Given the description of an element on the screen output the (x, y) to click on. 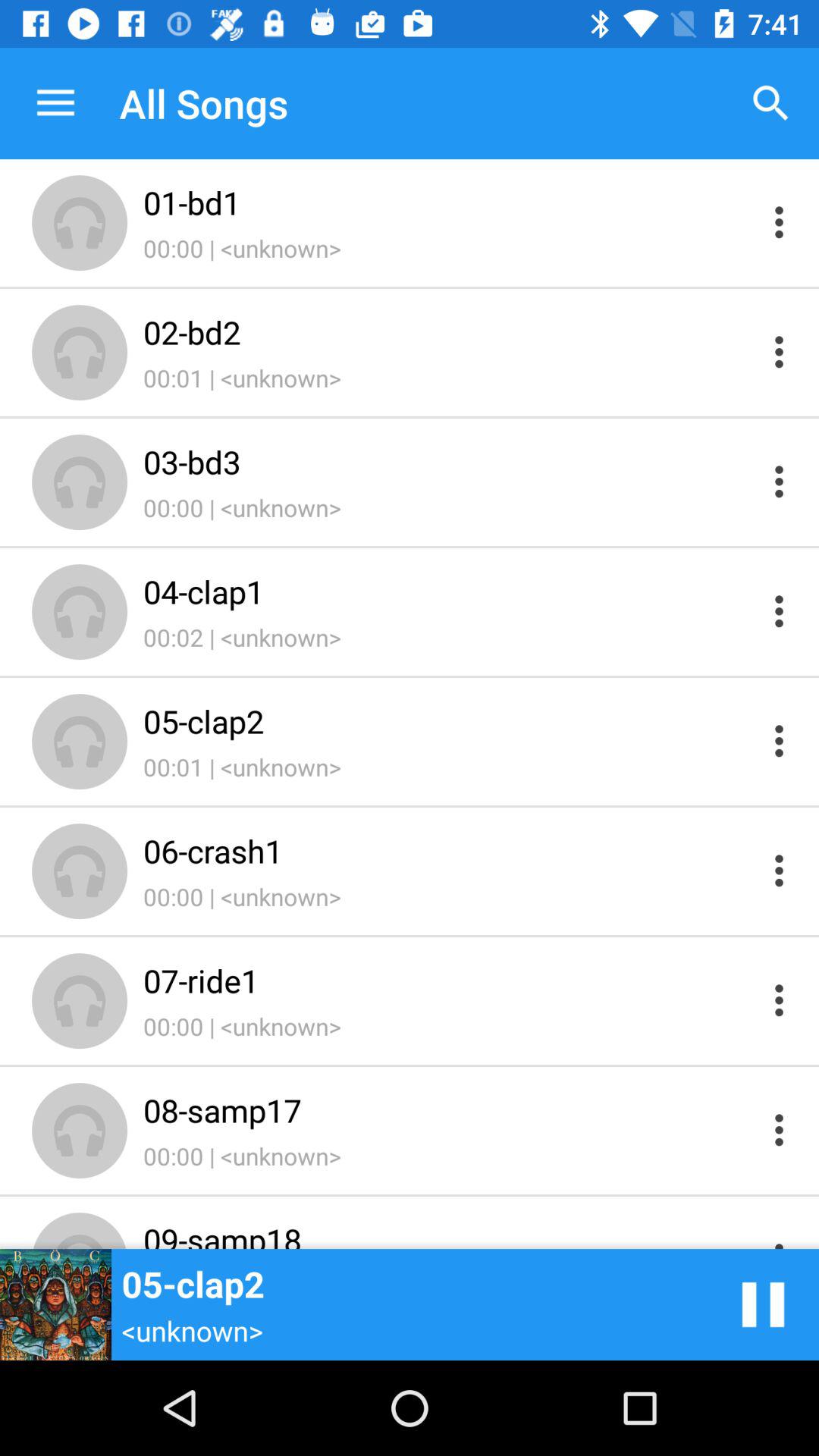
track options (779, 1000)
